Given the description of an element on the screen output the (x, y) to click on. 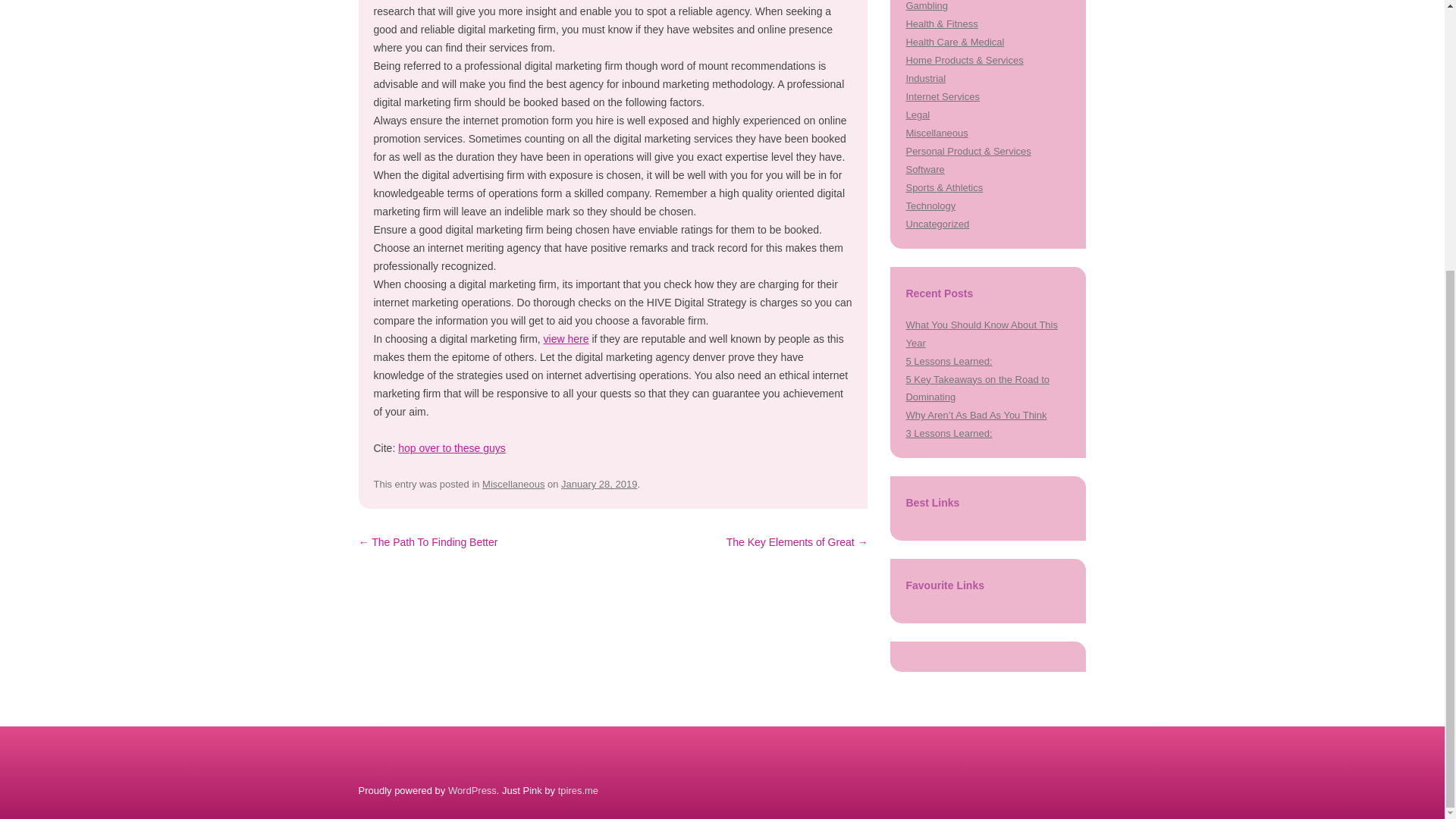
Software (924, 169)
Technology (930, 205)
5 Lessons Learned: (948, 360)
3 Lessons Learned: (948, 432)
hop over to these guys (451, 448)
Gambling (926, 5)
9:45 am (598, 483)
view here (566, 338)
Semantic Personal Publishing Platform (472, 790)
WordPress (472, 790)
Miscellaneous (512, 483)
5 Key Takeaways on the Road to Dominating (977, 387)
tpires.me (577, 790)
January 28, 2019 (598, 483)
Industrial (924, 78)
